Given the description of an element on the screen output the (x, y) to click on. 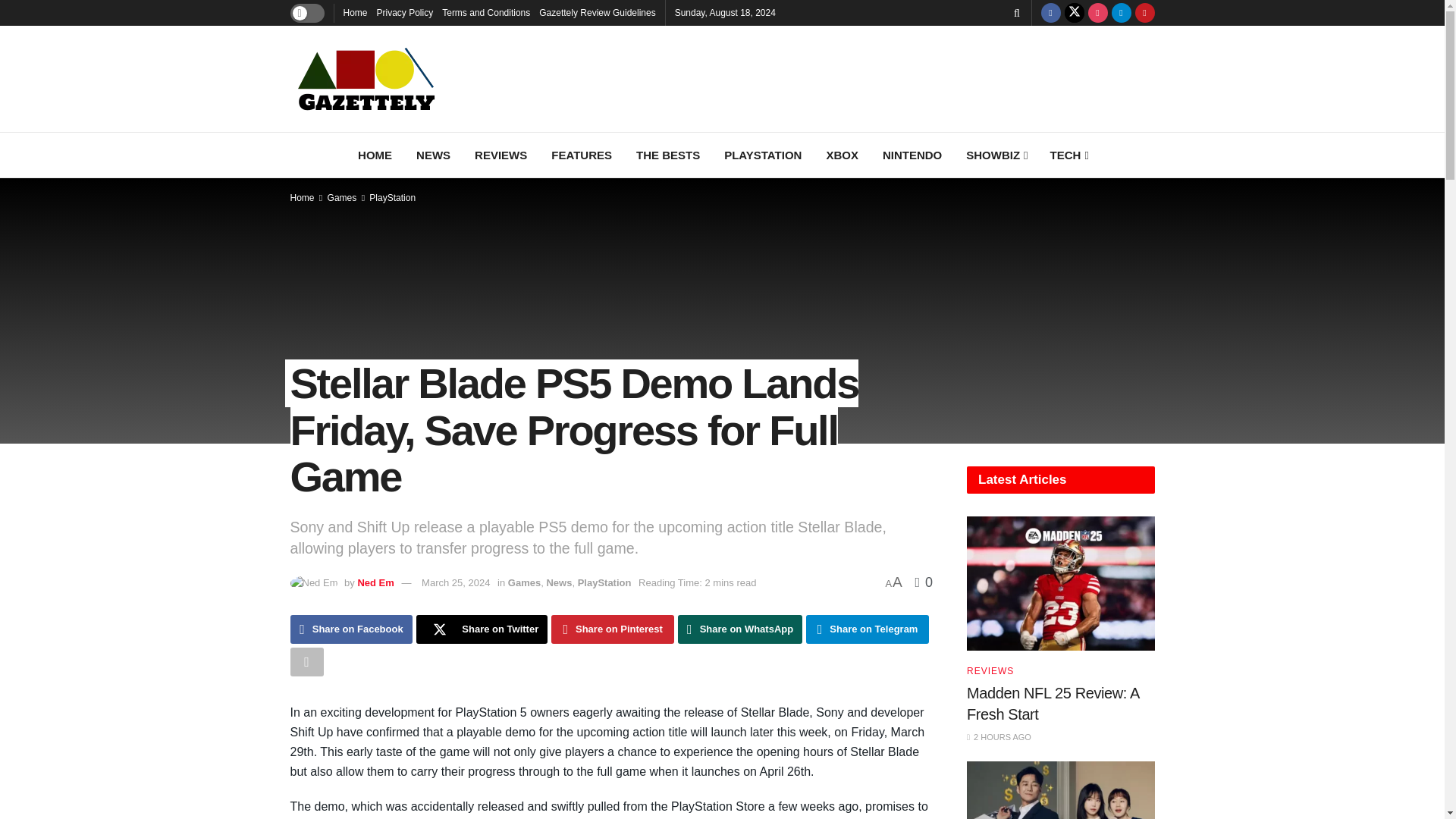
THE BESTS (667, 154)
PLAYSTATION (762, 154)
Gazettely Review Guidelines (596, 12)
XBOX (841, 154)
SHOWBIZ (994, 154)
NEWS (433, 154)
HOME (375, 154)
Terms and Conditions (485, 12)
Home (354, 12)
REVIEWS (500, 154)
